Given the description of an element on the screen output the (x, y) to click on. 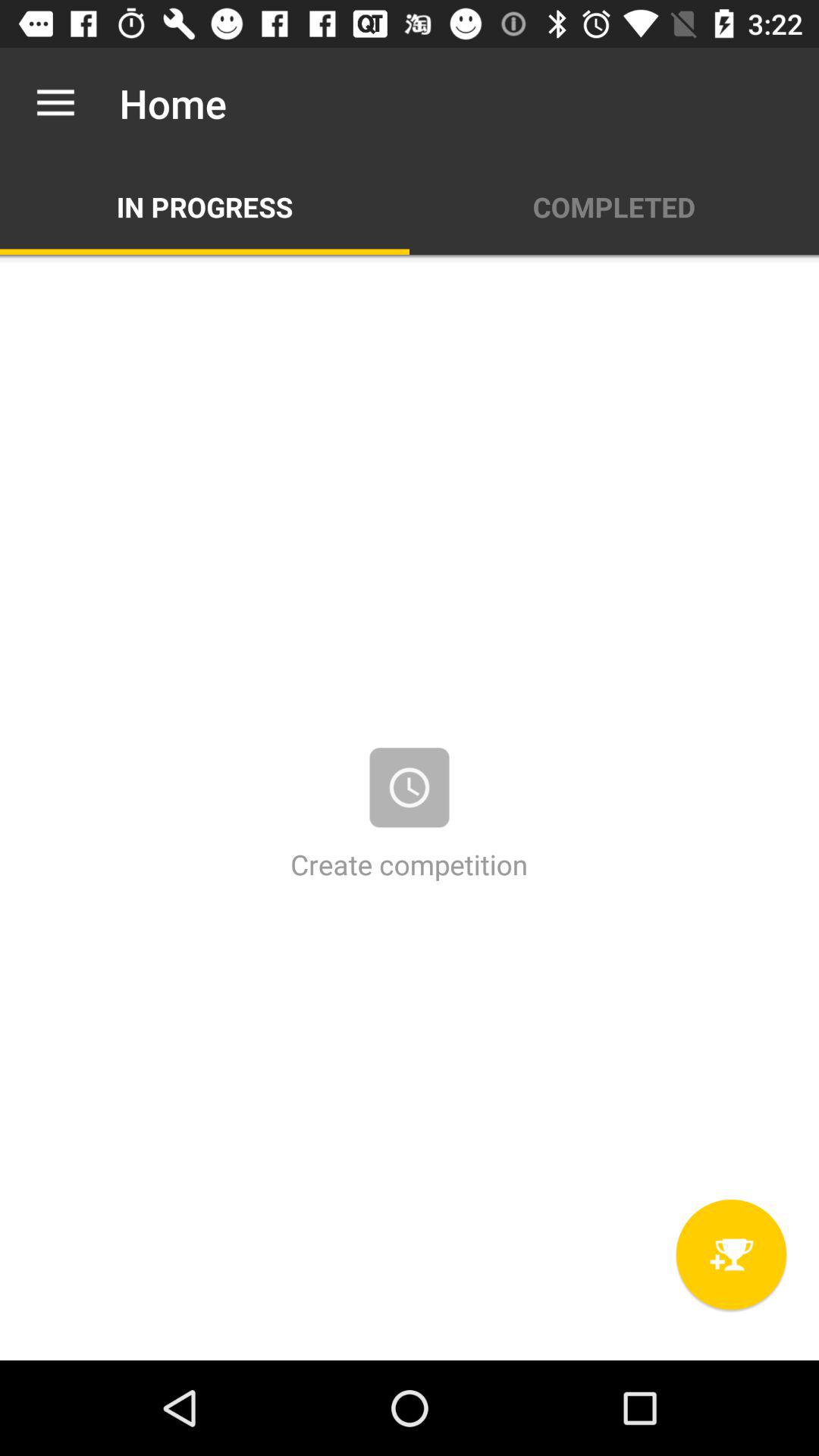
tap icon at the bottom right corner (731, 1254)
